Given the description of an element on the screen output the (x, y) to click on. 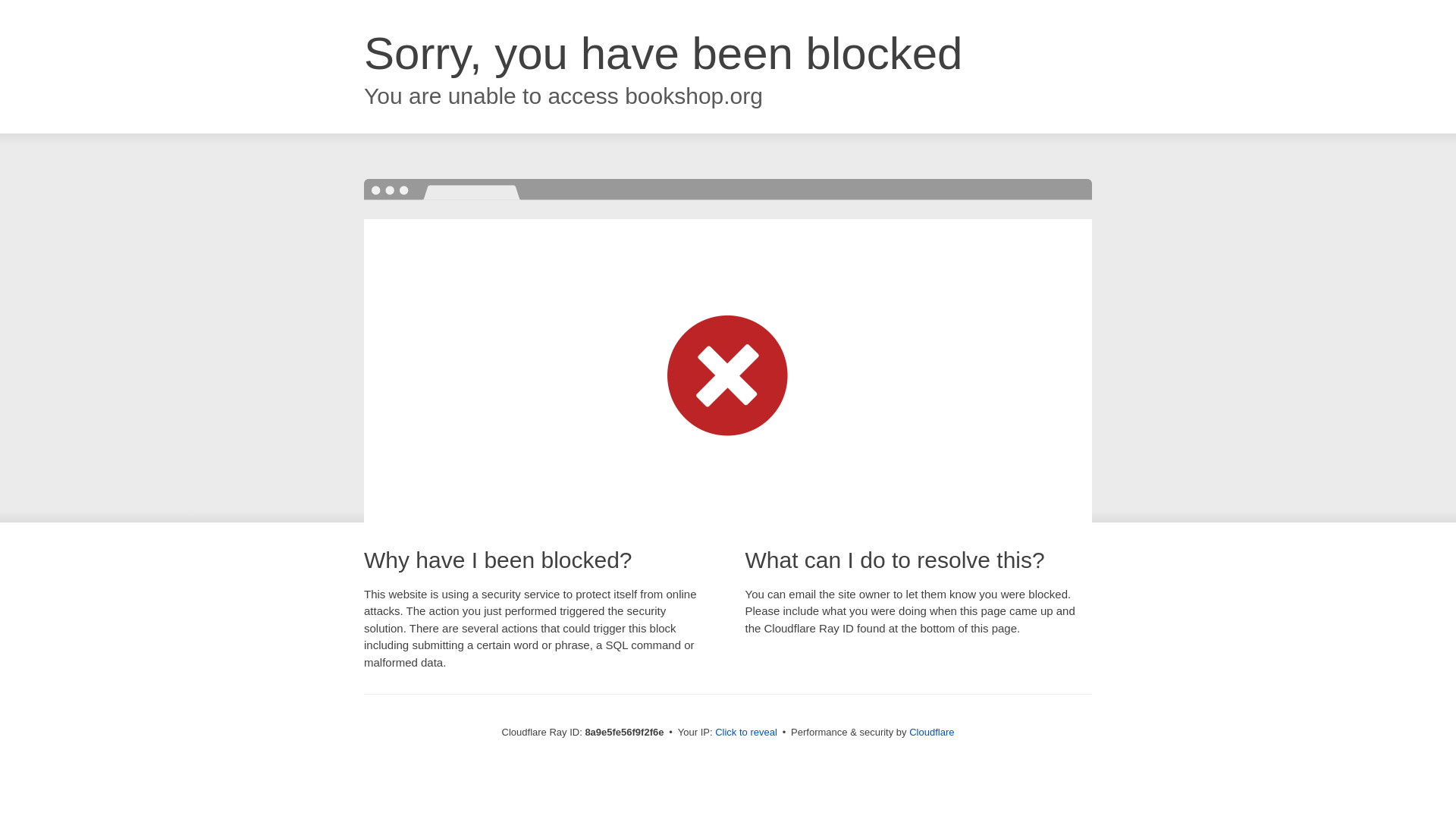
Click to reveal (745, 732)
Cloudflare (930, 731)
